Given the description of an element on the screen output the (x, y) to click on. 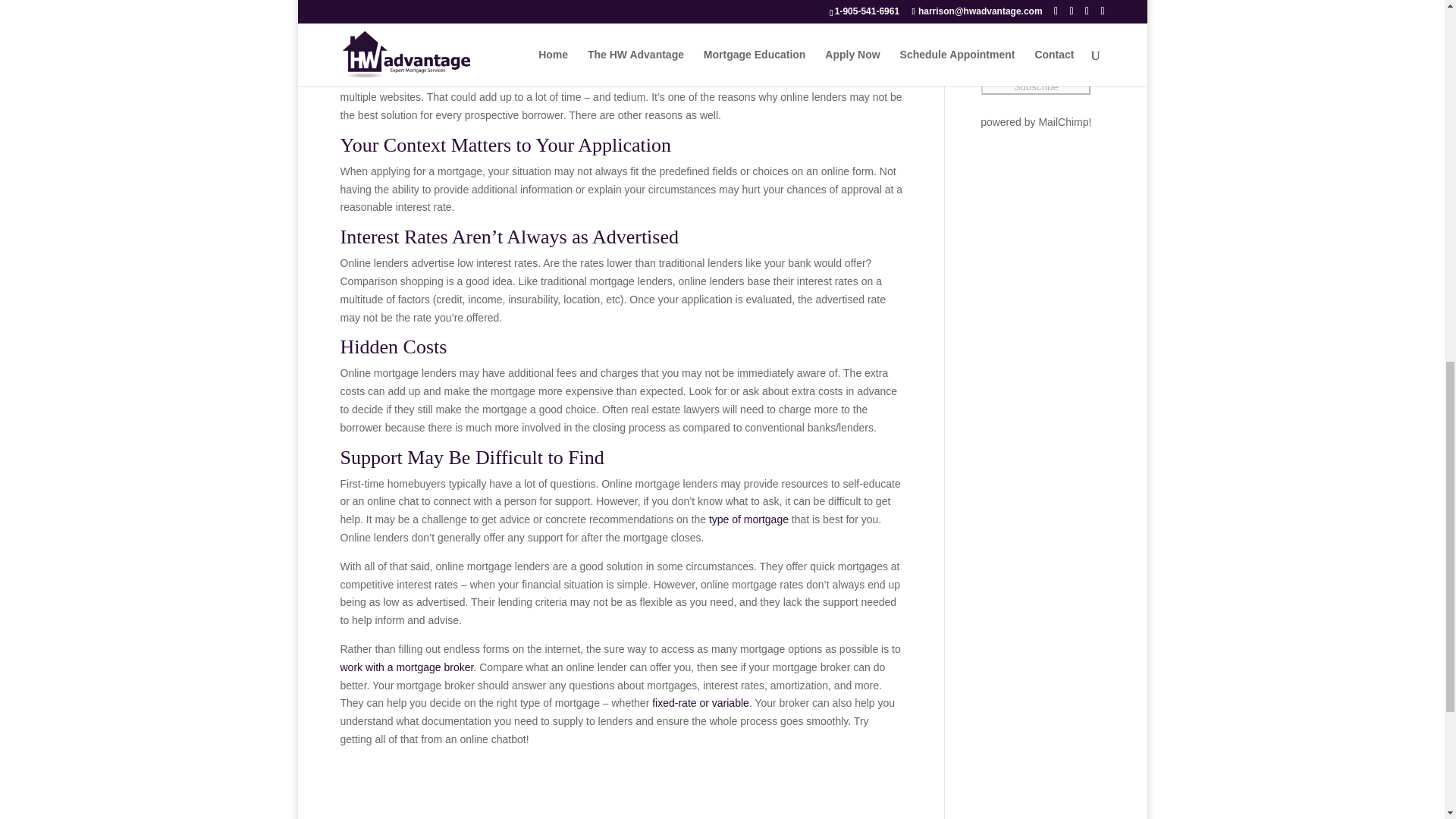
work with a mortgage broker (406, 666)
Subscribe (1035, 86)
fixed-rate or variable (700, 702)
type of mortgage (749, 519)
Subscribe (1035, 86)
